Given the description of an element on the screen output the (x, y) to click on. 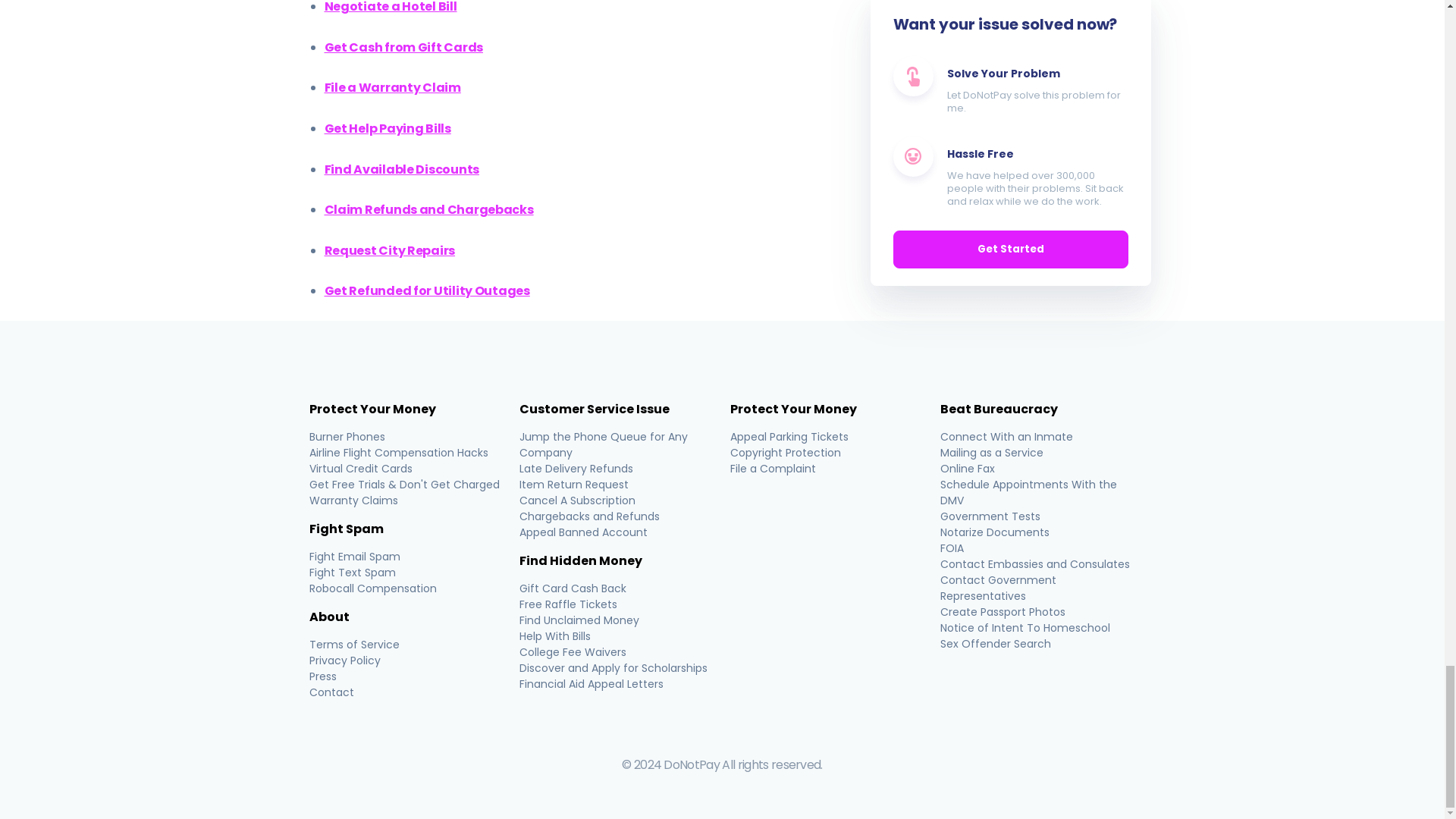
Get Cash from Gift Cards (403, 47)
File a Warranty Claim (392, 87)
Negotiate a Hotel Bill (390, 7)
